Given the description of an element on the screen output the (x, y) to click on. 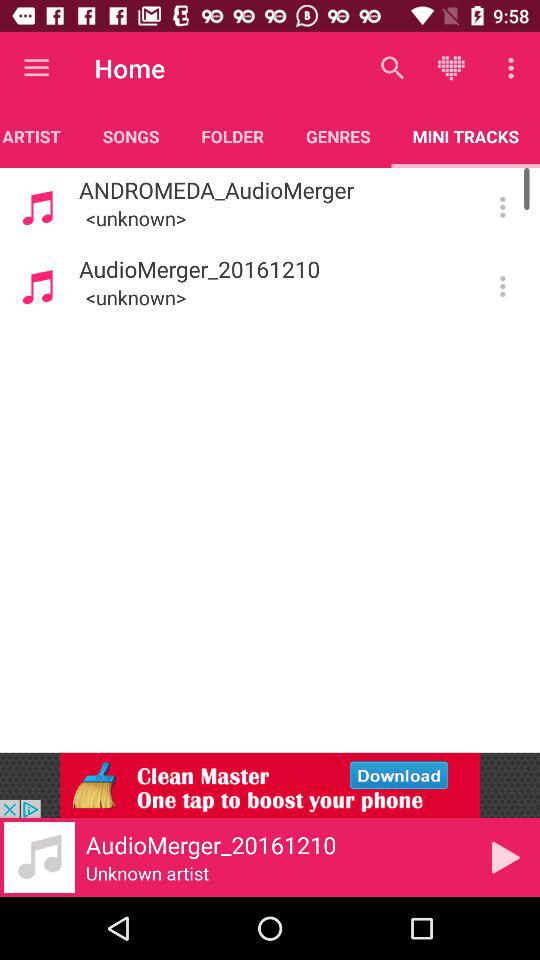
click on the menu icon at the top right corner (514, 68)
